Given the description of an element on the screen output the (x, y) to click on. 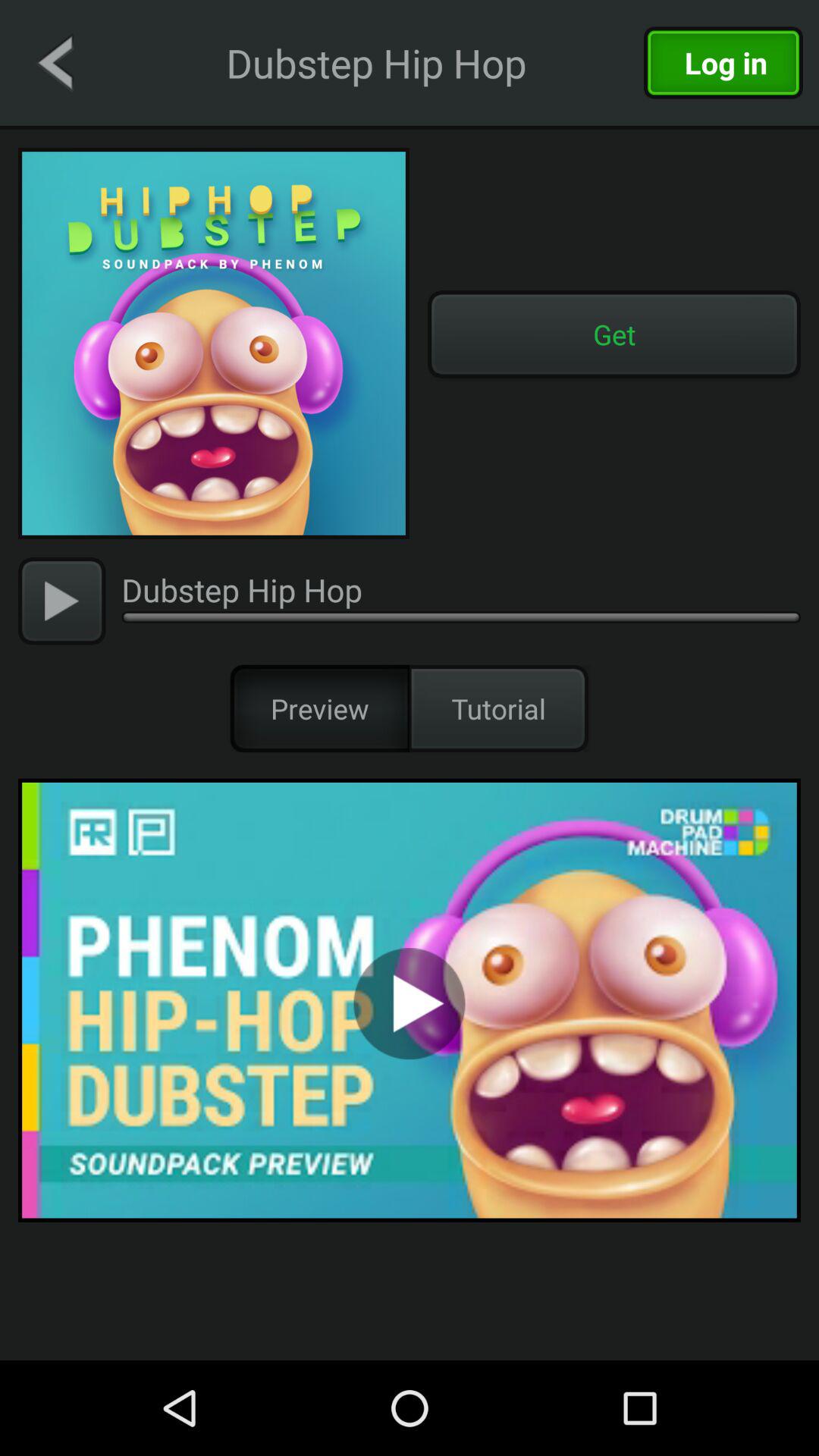
select the item next to the preview item (498, 708)
